Given the description of an element on the screen output the (x, y) to click on. 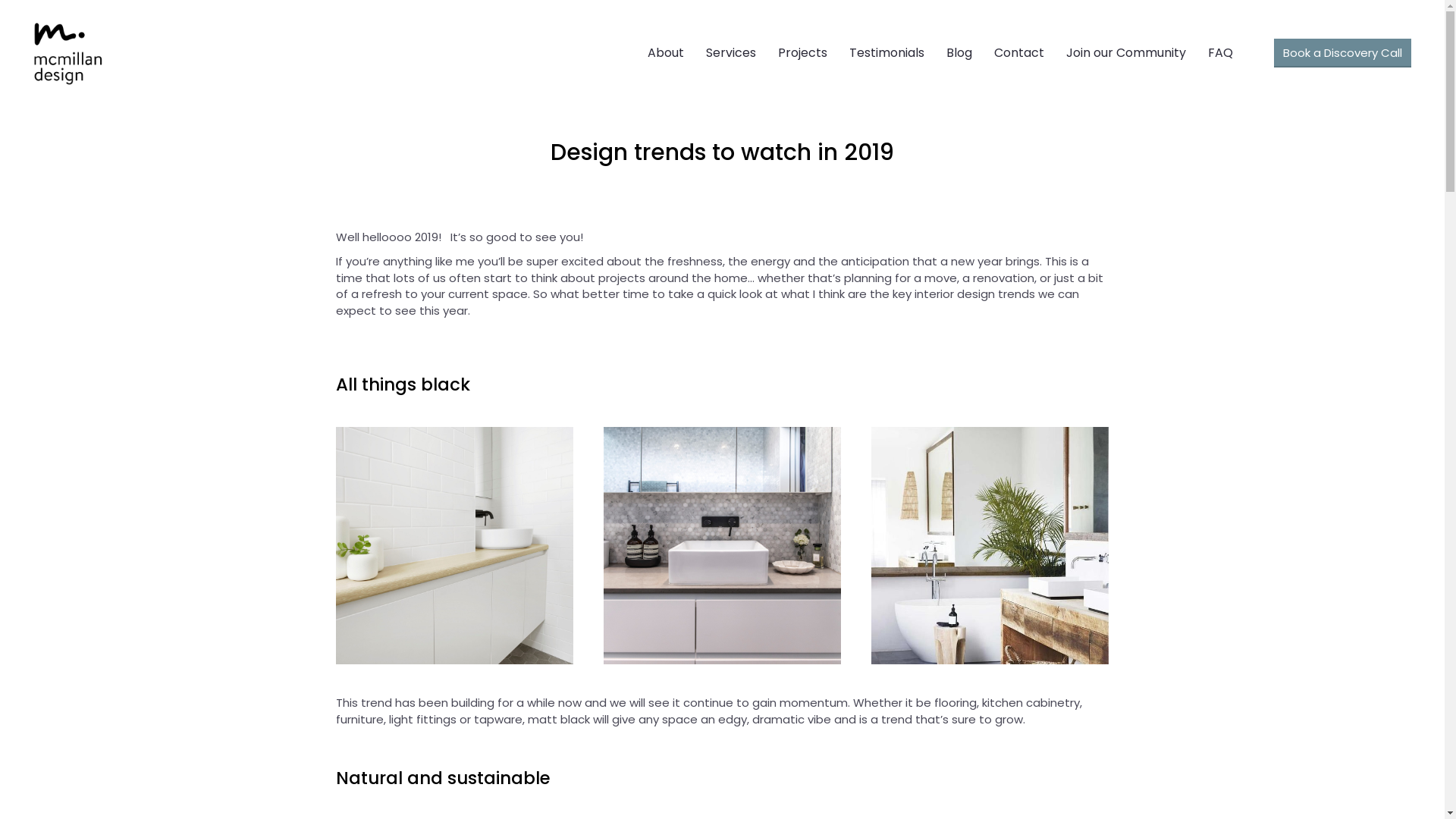
Projects Element type: text (802, 52)
FAQ Element type: text (1220, 52)
0V1A8969-Copy Element type: hover (721, 545)
Contact Element type: text (1018, 52)
Forest-Lodge-044-1 Element type: hover (453, 545)
Join our Community Element type: text (1125, 52)
cropped-Logo512x512 Element type: hover (68, 53)
Services Element type: text (730, 52)
About Element type: text (665, 52)
Book a Discovery Call Element type: text (1342, 52)
Testimonials Element type: text (886, 52)
sustainable-4 Element type: hover (989, 545)
Blog Element type: text (958, 52)
